Given the description of an element on the screen output the (x, y) to click on. 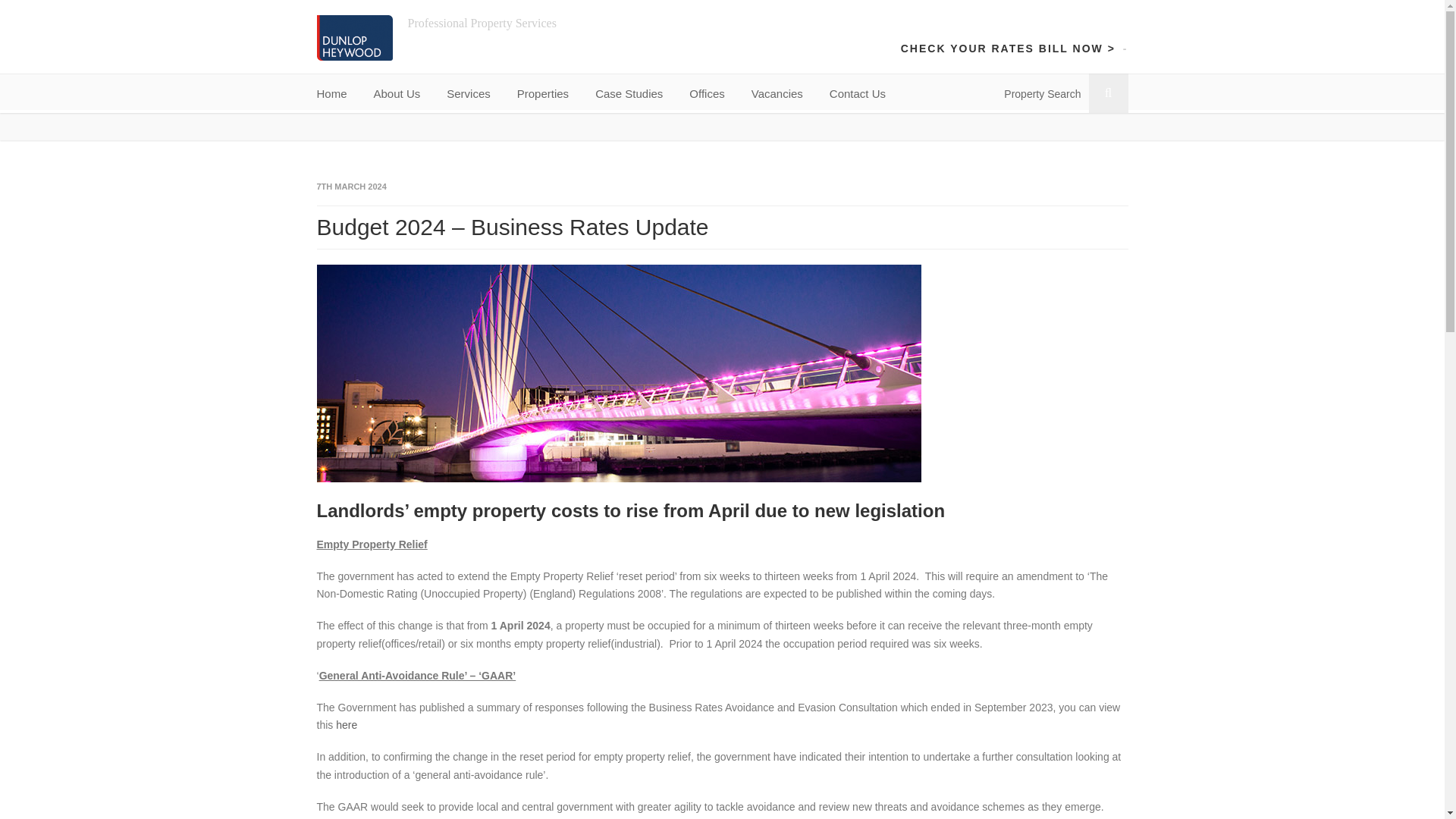
Dunlop Heywood (355, 37)
Contact Us (857, 93)
here (346, 725)
Properties (542, 93)
Services (468, 93)
Case Studies (628, 93)
About Us (397, 93)
Vacancies (777, 93)
